Given the description of an element on the screen output the (x, y) to click on. 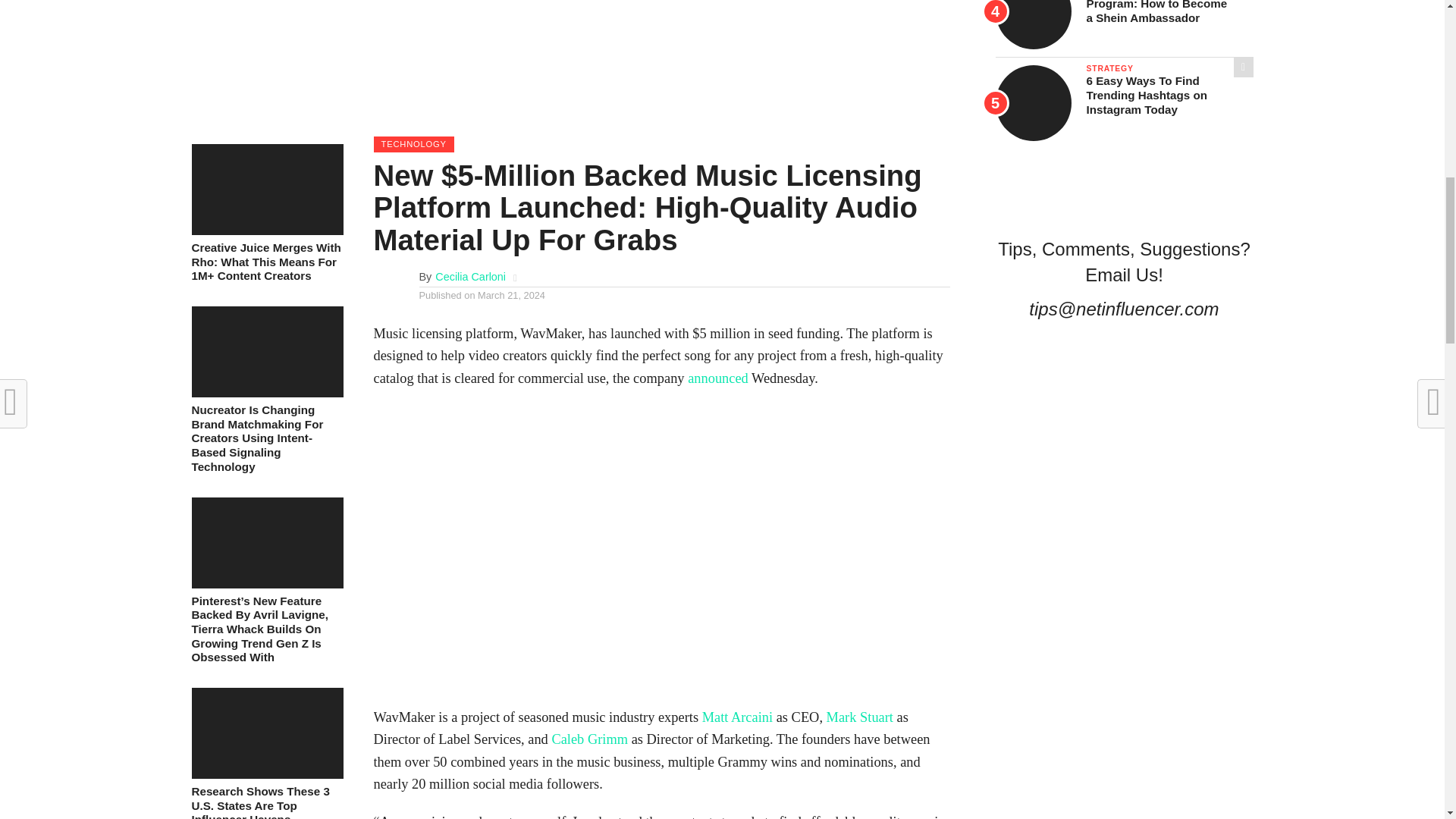
Posts by Cecilia Carloni (470, 276)
Research Shows These 3 U.S. States Are Top Influencer Havens (266, 774)
